Given the description of an element on the screen output the (x, y) to click on. 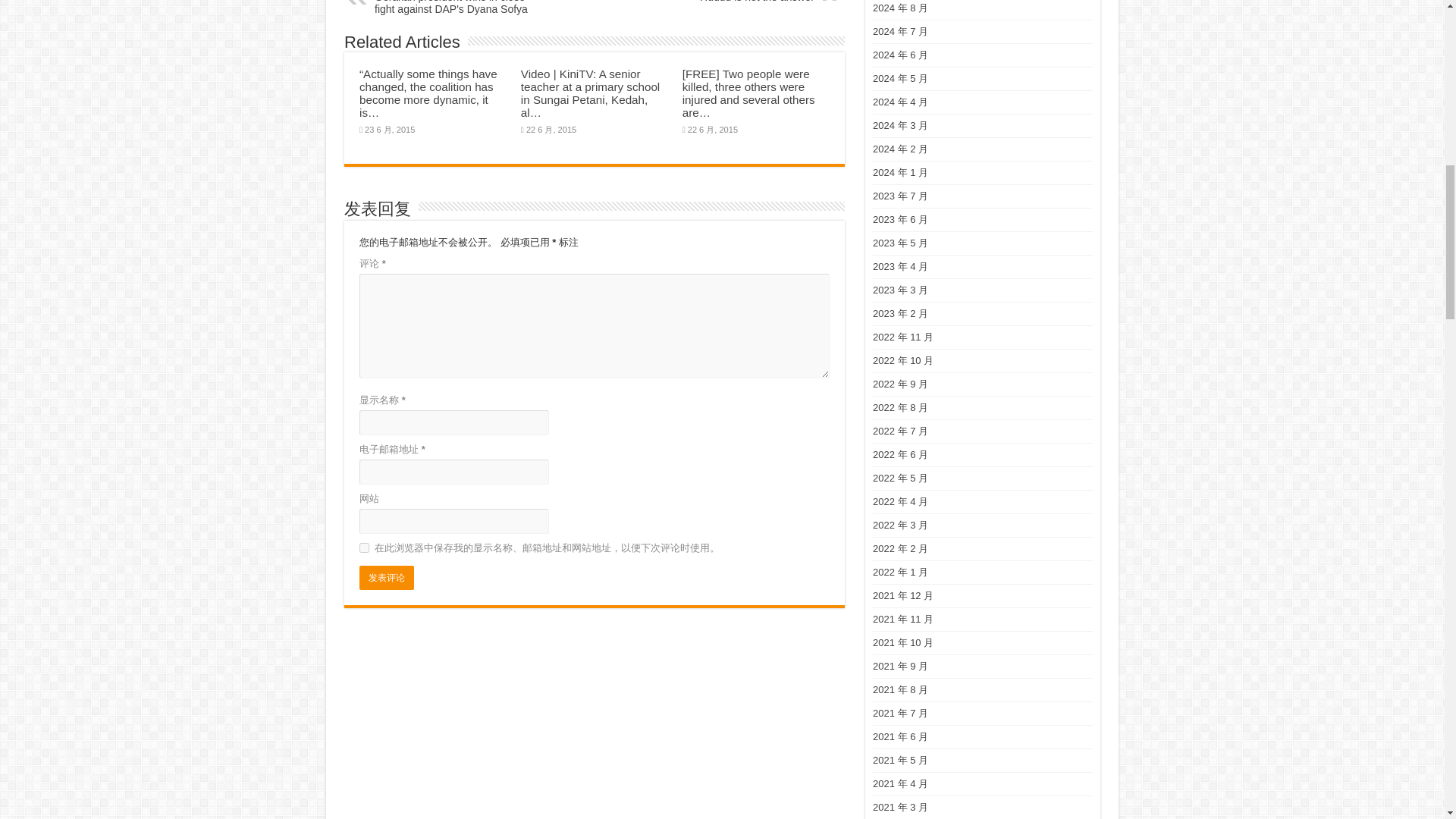
yes (364, 547)
Scroll To Top (1421, 60)
